Given the description of an element on the screen output the (x, y) to click on. 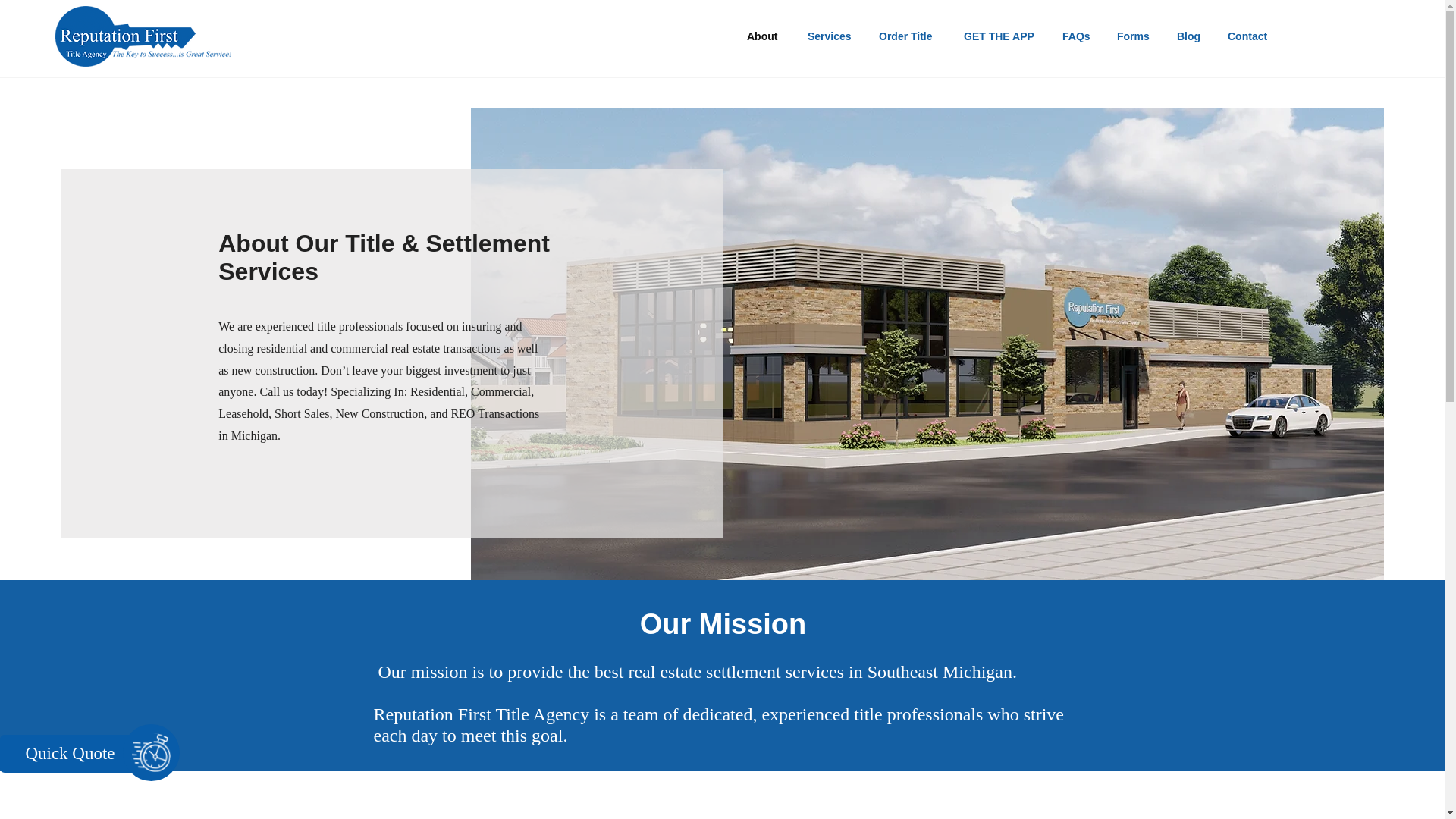
FAQs (1078, 36)
Blog (1190, 36)
Forms (1135, 36)
Order Title (909, 36)
Contact (1250, 36)
Embedded Content (1280, 639)
About (765, 36)
GET THE APP (1001, 36)
